Given the description of an element on the screen output the (x, y) to click on. 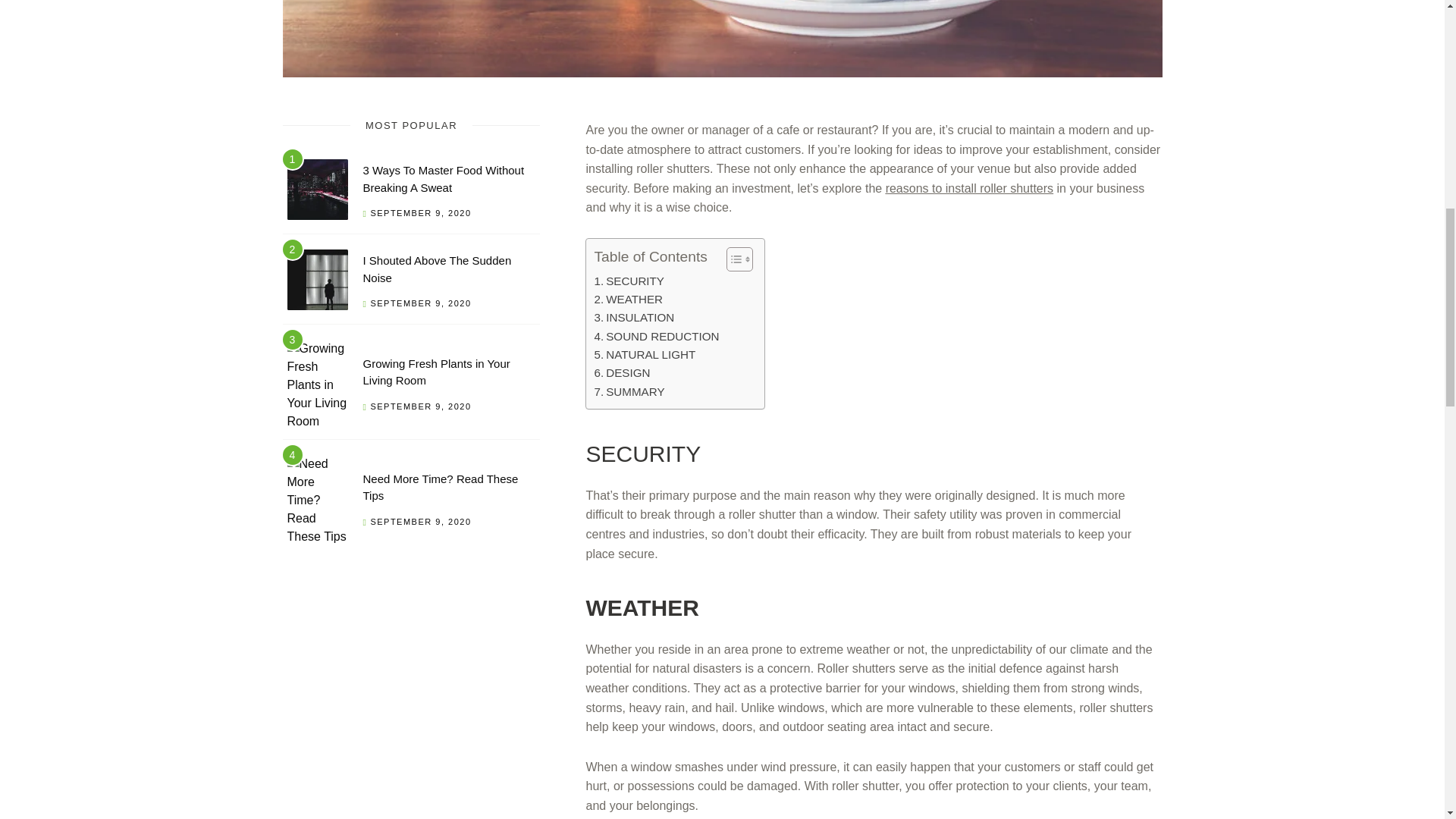
SOUND REDUCTION (656, 336)
I Shouted Above The Sudden Noise (436, 268)
Permalink to 3 Ways To Master Food Without Breaking A Sweat (316, 191)
NATURAL LIGHT (644, 354)
WEATHER (628, 299)
SEPTEMBER 9, 2020 (419, 521)
Permalink to 3 Ways To Master Food Without Breaking A Sweat (443, 178)
reasons to install roller shutters (968, 187)
DESIGN (621, 372)
INSULATION (634, 317)
